Given the description of an element on the screen output the (x, y) to click on. 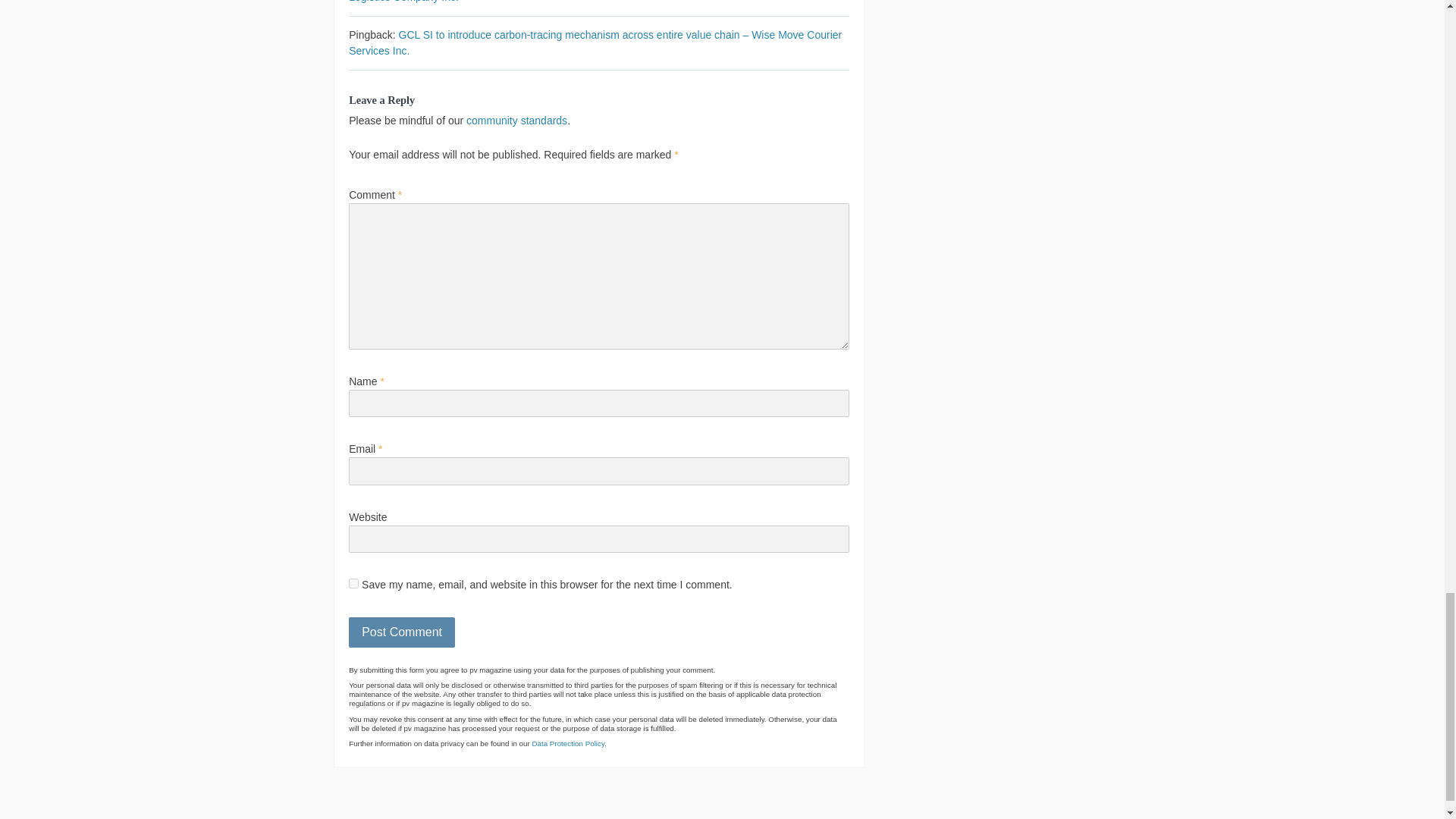
Post Comment (401, 632)
yes (353, 583)
